Given the description of an element on the screen output the (x, y) to click on. 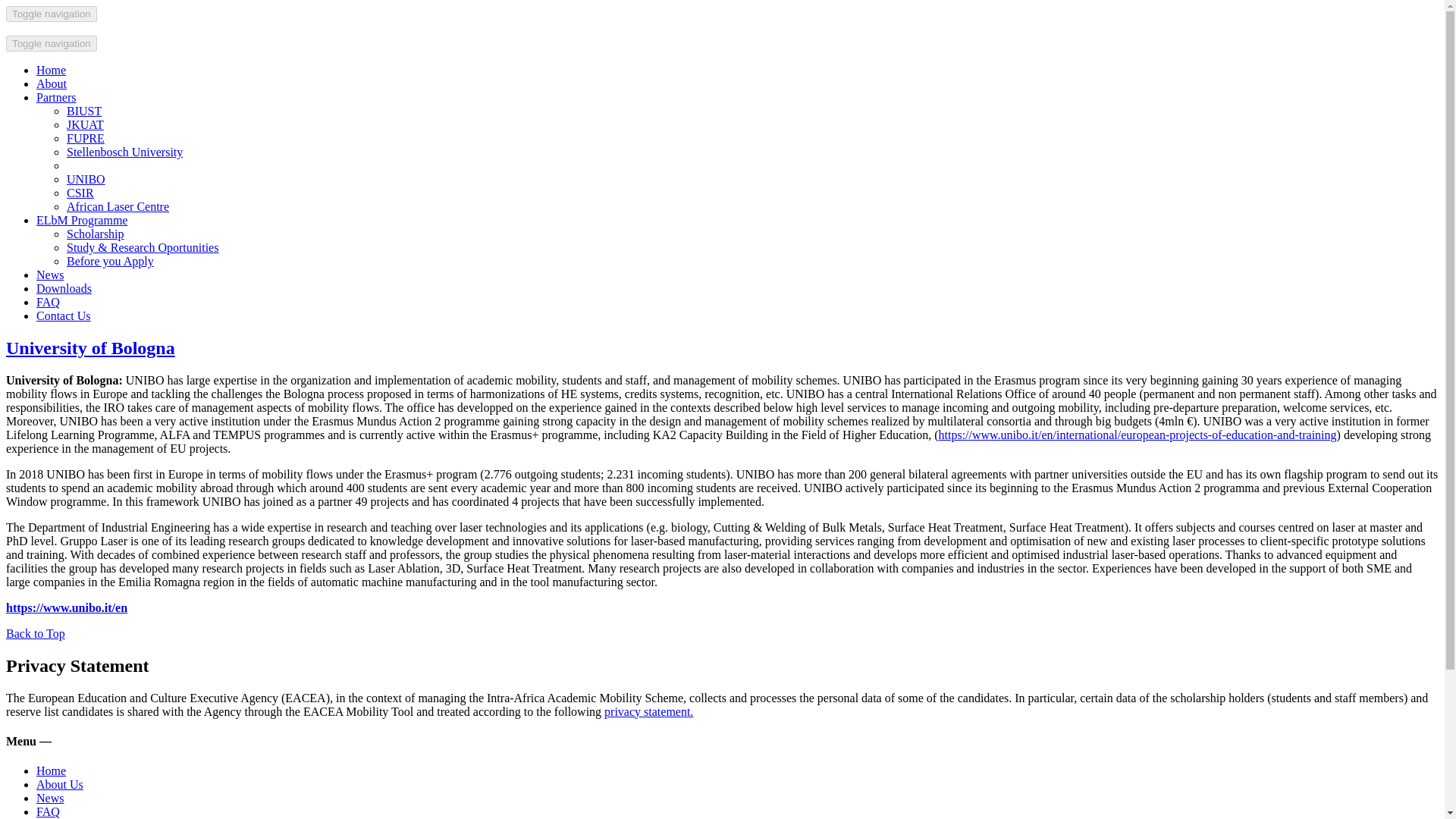
Stellenbosch University (124, 151)
JKUAT (84, 124)
News (50, 274)
BIUST (83, 110)
About Us (59, 784)
FUPRE (85, 137)
Home (50, 770)
University of Bologna (89, 347)
Scholarship (94, 233)
Back to Top (35, 633)
